Given the description of an element on the screen output the (x, y) to click on. 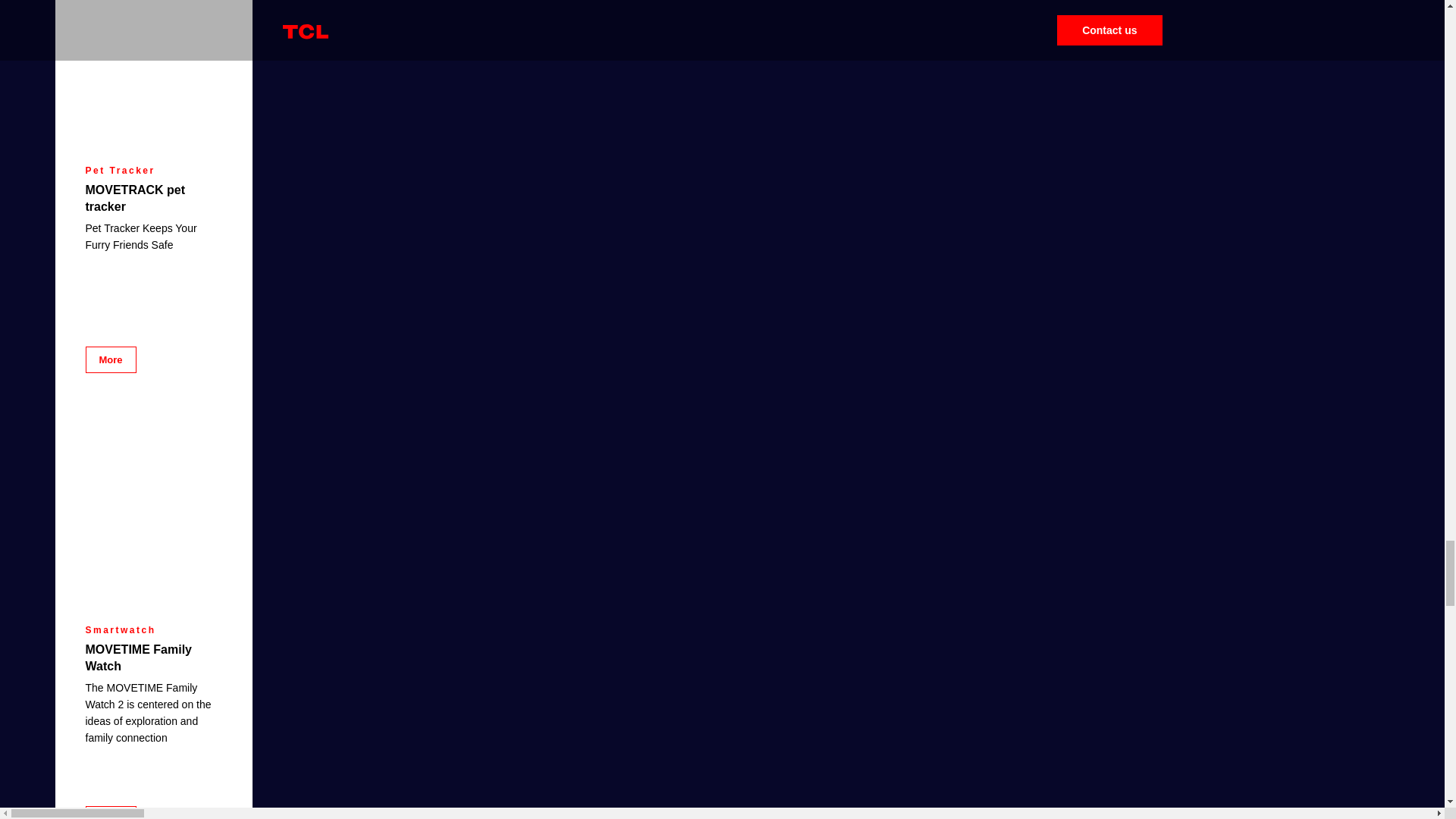
More (109, 812)
More (109, 359)
